Given the description of an element on the screen output the (x, y) to click on. 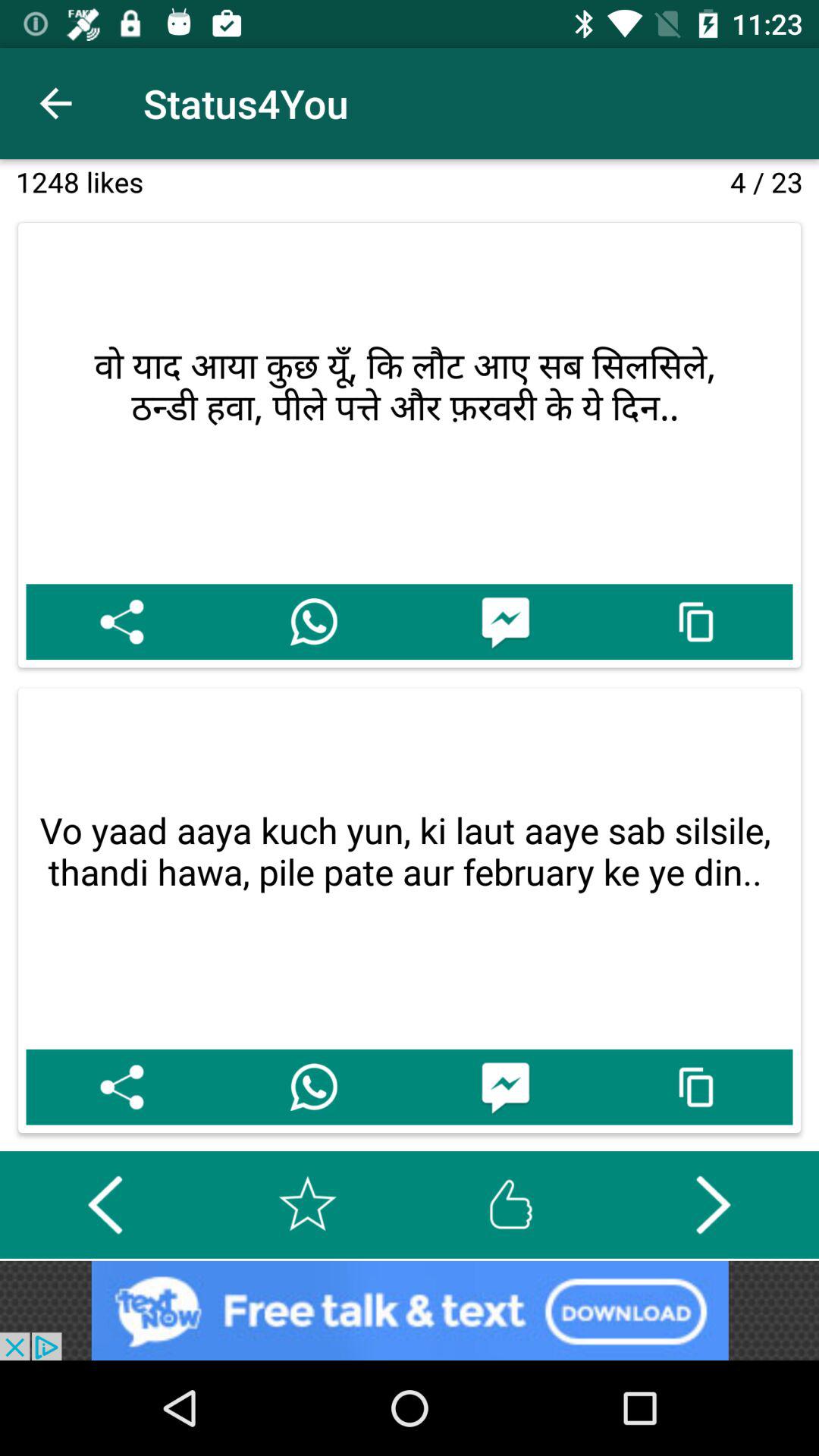
text message button (505, 621)
